Given the description of an element on the screen output the (x, y) to click on. 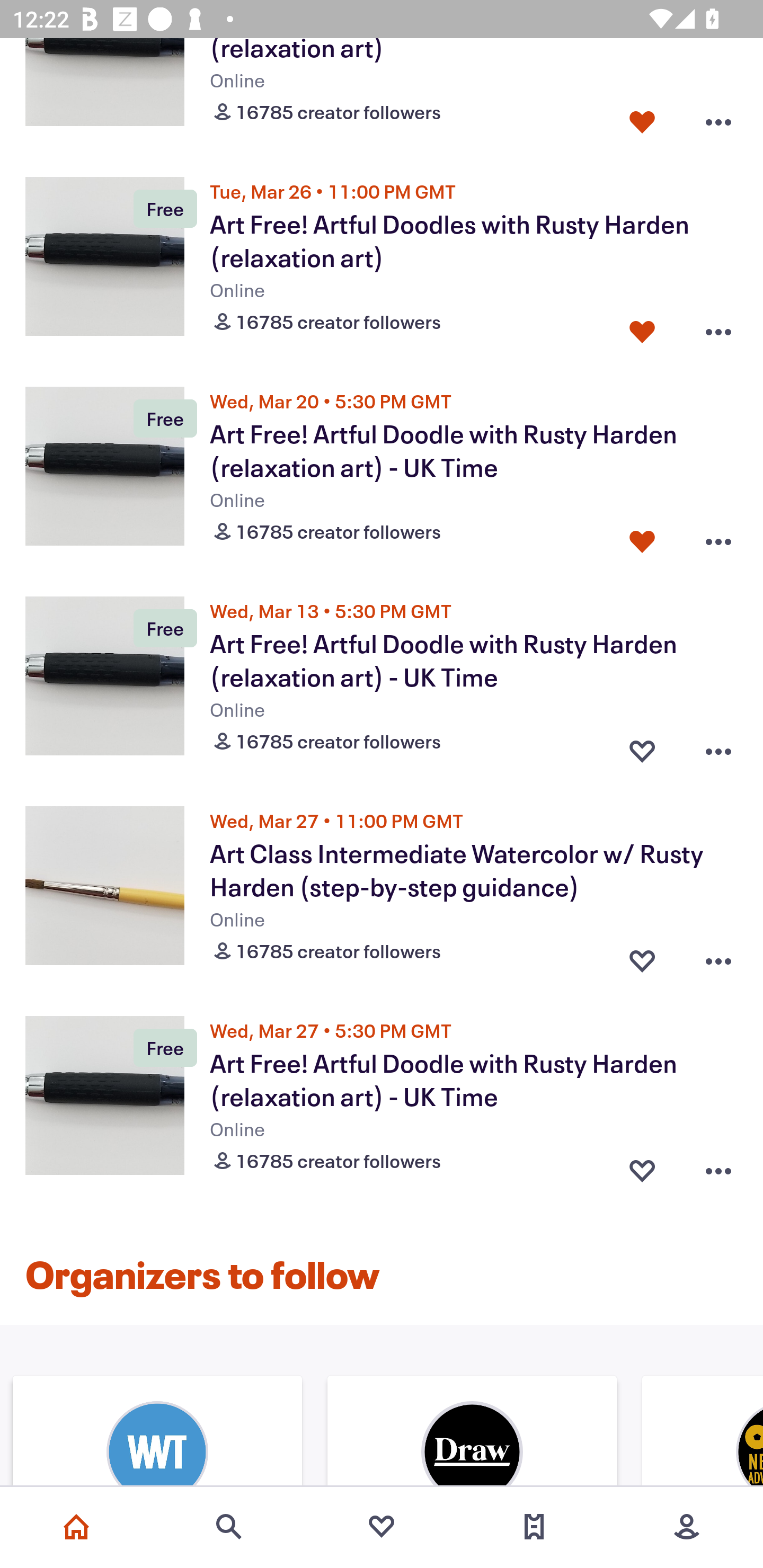
Favorite button (642, 118)
Overflow menu button (718, 118)
Favorite button (642, 327)
Overflow menu button (718, 327)
Favorite button (642, 536)
Overflow menu button (718, 536)
Favorite button (642, 746)
Overflow menu button (718, 746)
Favorite button (642, 956)
Overflow menu button (718, 956)
Favorite button (642, 1167)
Overflow menu button (718, 1167)
Organizer's image (157, 1433)
Organizer's image (471, 1433)
Home (76, 1526)
Search events (228, 1526)
Favorites (381, 1526)
Tickets (533, 1526)
More (686, 1526)
